Given the description of an element on the screen output the (x, y) to click on. 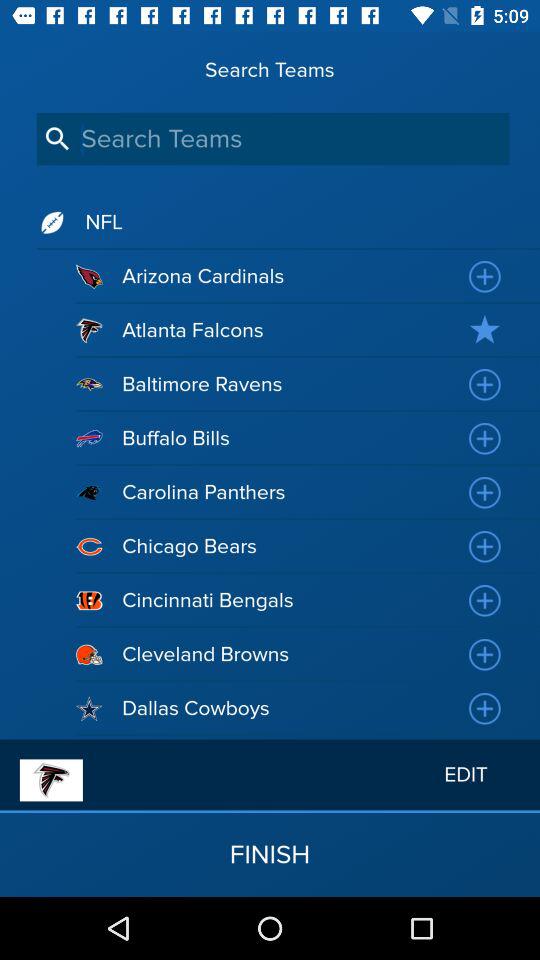
search toolbar (272, 138)
